Given the description of an element on the screen output the (x, y) to click on. 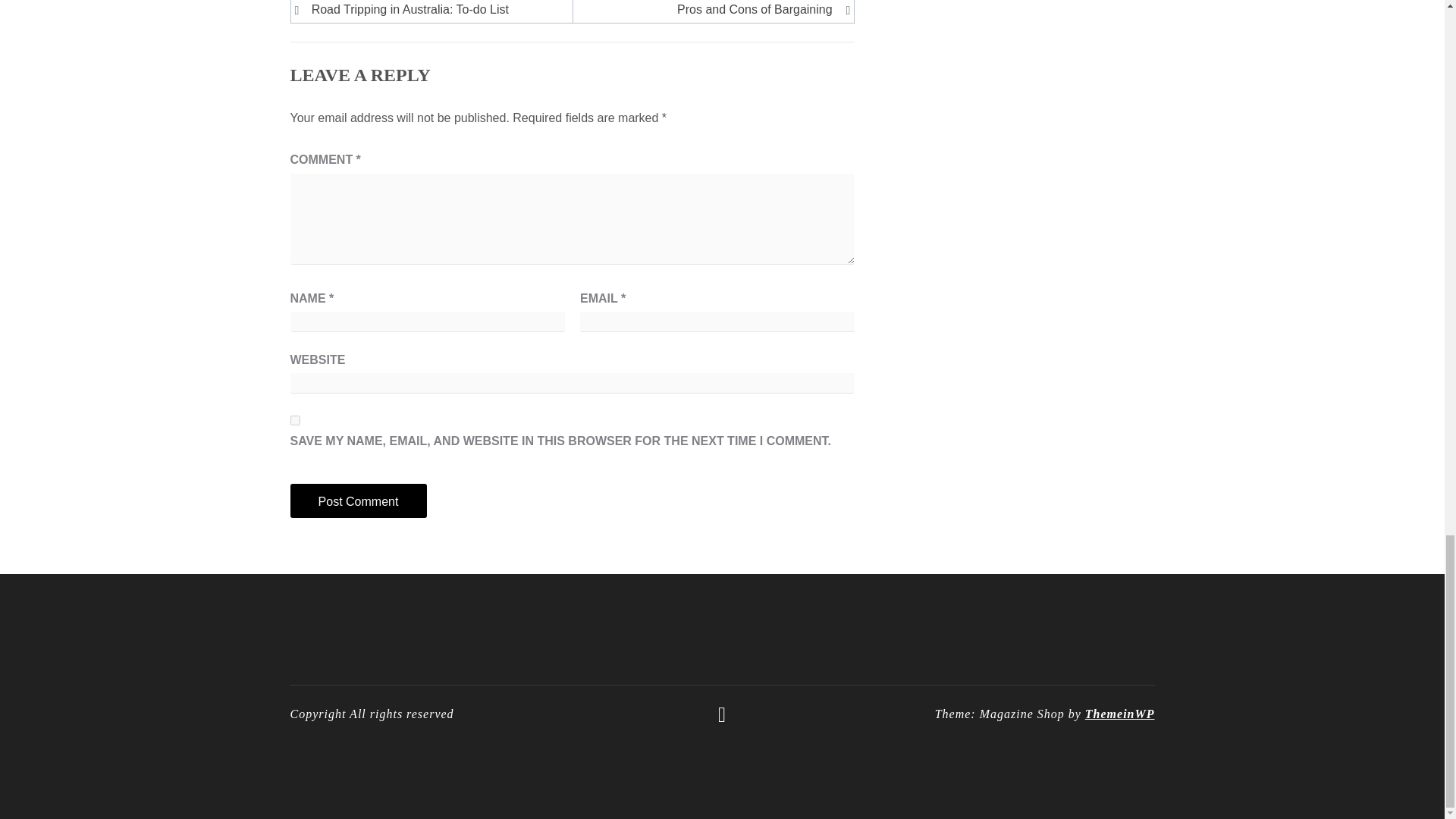
Post Comment (357, 500)
yes (294, 420)
Post Comment (357, 500)
Road Tripping in Australia: To-do List (434, 9)
Pros and Cons of Bargaining (710, 9)
